Given the description of an element on the screen output the (x, y) to click on. 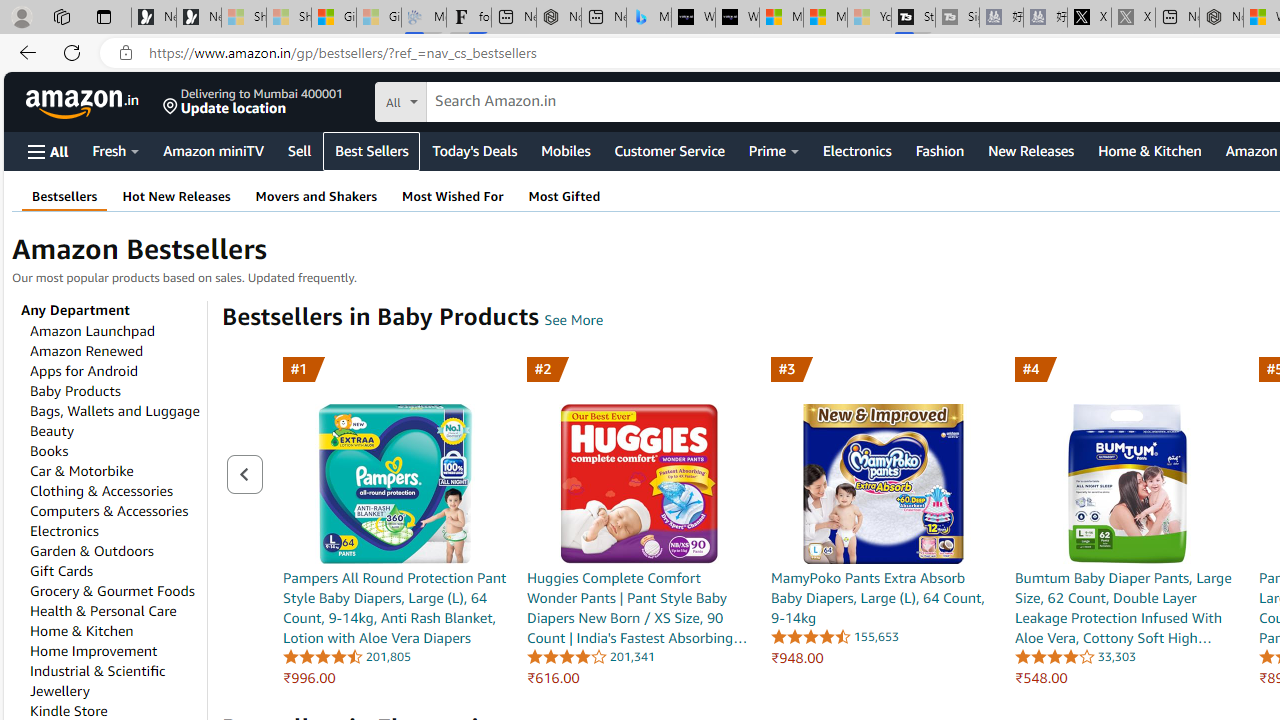
Microsoft Start Sports (781, 17)
Movers and Shakers (315, 196)
Clothing & Accessories (100, 490)
Bestsellers (65, 196)
Kindle Store (68, 711)
Today's Deals (474, 150)
Customer Service (669, 150)
Health & Personal Care (102, 610)
Newsletter Sign Up (198, 17)
Computers & Accessories (109, 510)
